Given the description of an element on the screen output the (x, y) to click on. 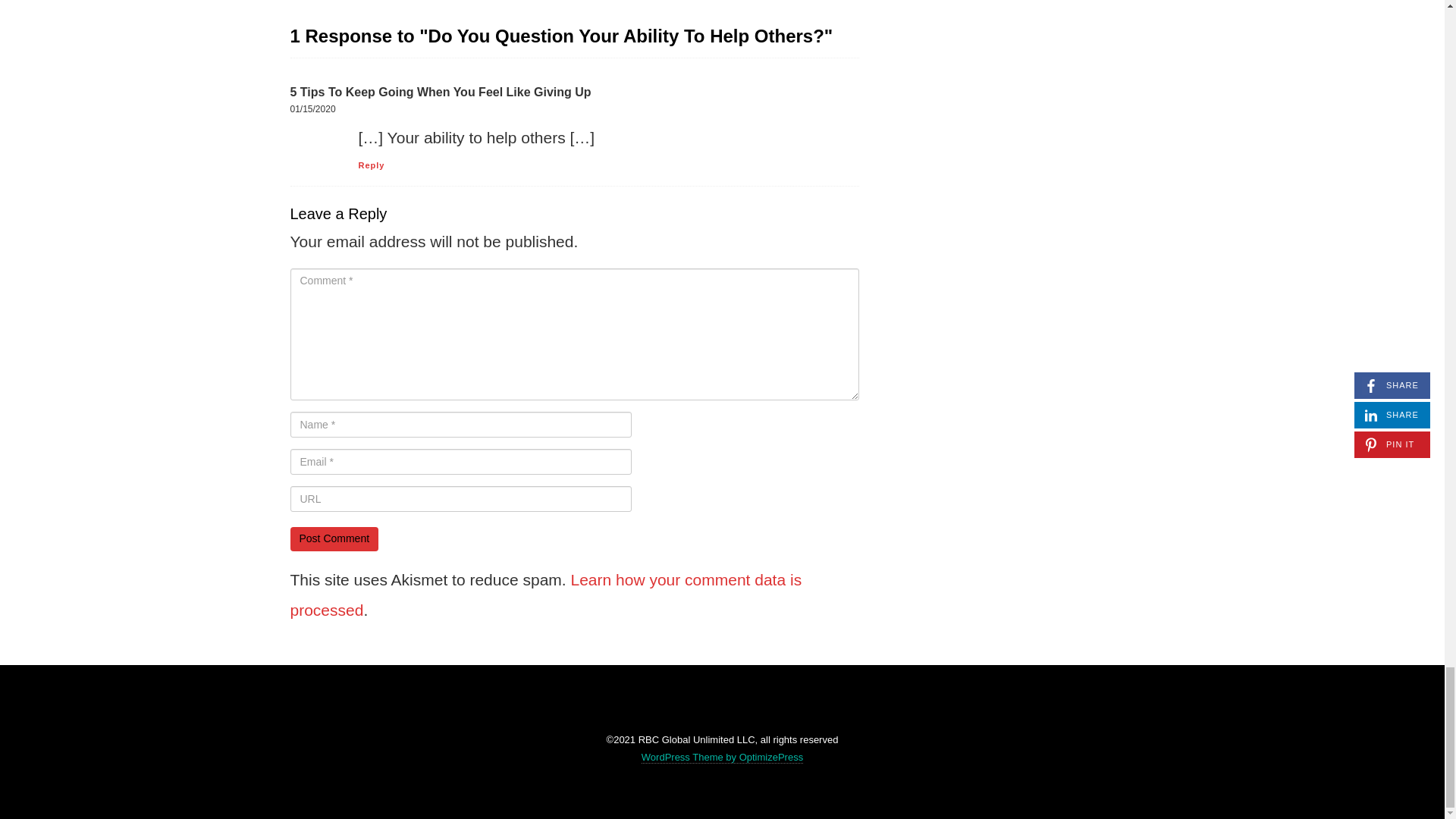
Reply (371, 164)
Post Comment (333, 539)
5 Tips To Keep Going When You Feel Like Giving Up (440, 91)
